Given the description of an element on the screen output the (x, y) to click on. 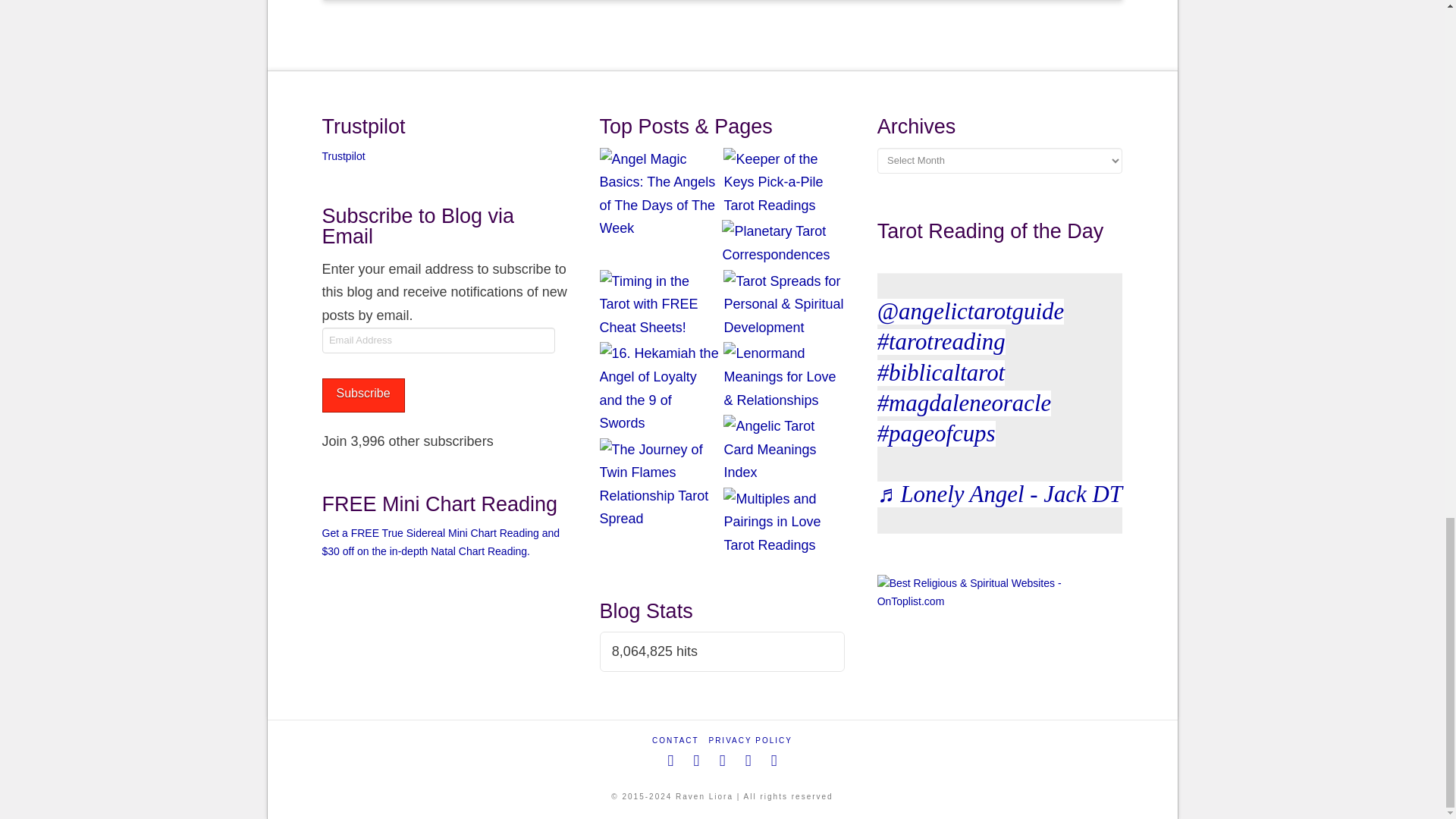
Planetary Tarot Correspondences (782, 243)
Keeper of the Keys Pick-a-Pile Tarot Readings (783, 182)
Angel Magic Basics: The Angels of The Days of The Week (659, 194)
